Given the description of an element on the screen output the (x, y) to click on. 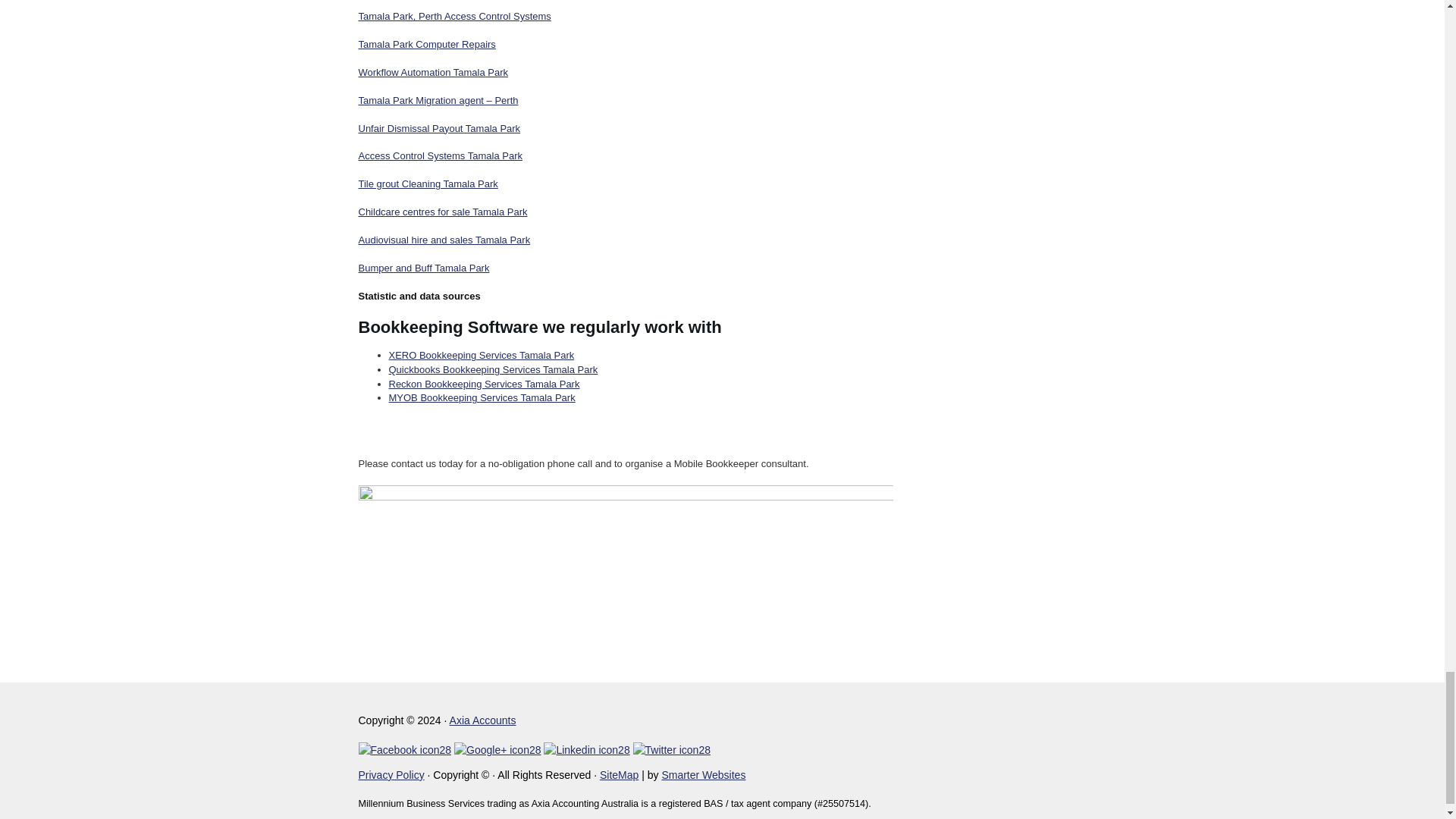
XERO Bookkeeping Services Tamala Park (480, 355)
Bumper and Buff Tamala Park (423, 267)
Childcare centres for sale Tamala Park (442, 211)
Quickbooks Bookkeeping Services Tamala Park (492, 369)
Tile grout Cleaning Tamala Park (427, 183)
Tamala Park Computer Repairs (426, 43)
Workflow Automation Tamala Park (433, 71)
Access Control Systems Tamala Park (440, 155)
Tamala Park, Perth Access Control Systems (454, 16)
Unfair Dismissal Payout Tamala Park (438, 128)
Audiovisual hire and sales Tamala Park (443, 239)
